Given the description of an element on the screen output the (x, y) to click on. 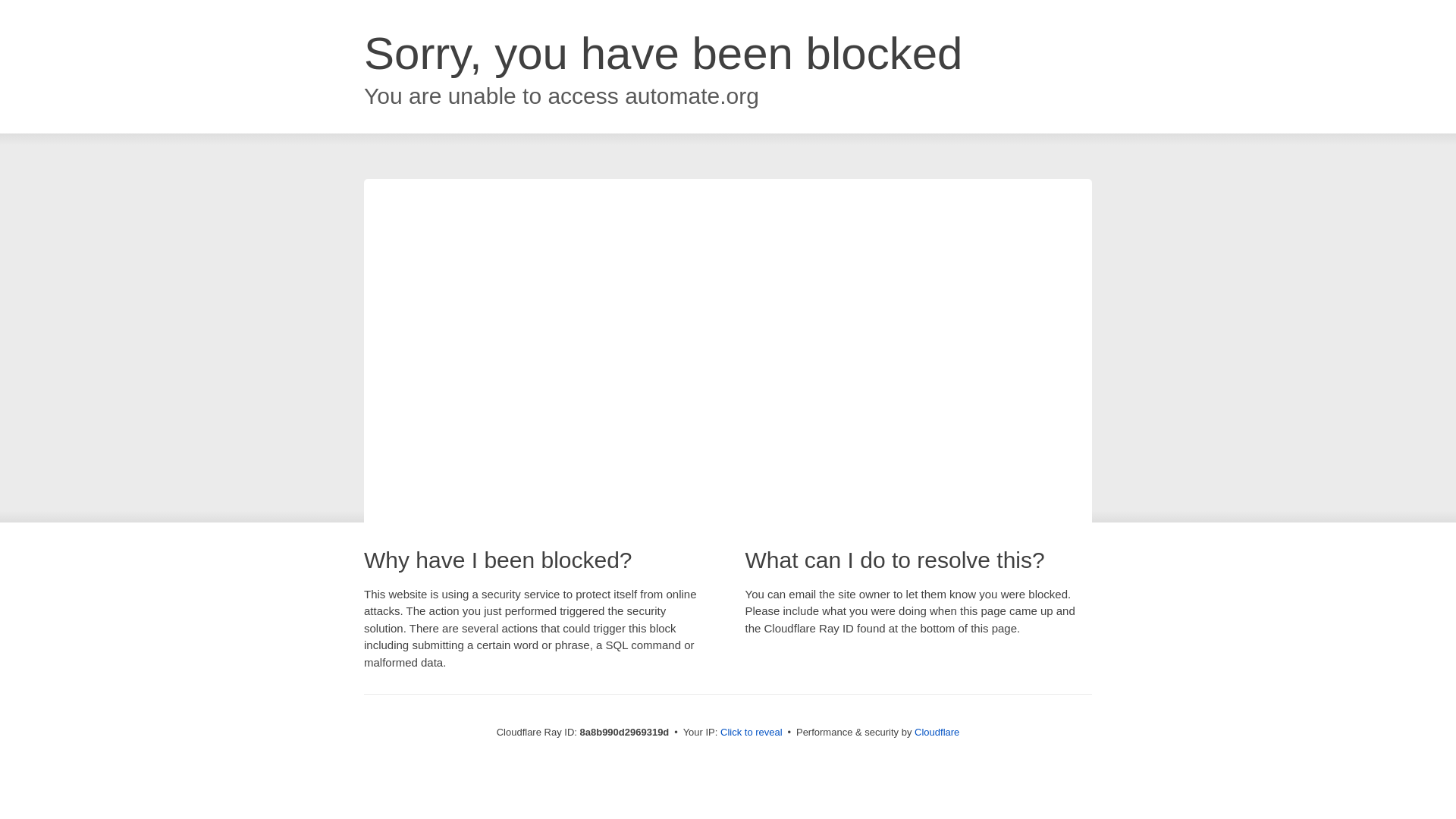
Click to reveal (751, 732)
Cloudflare (936, 731)
